Given the description of an element on the screen output the (x, y) to click on. 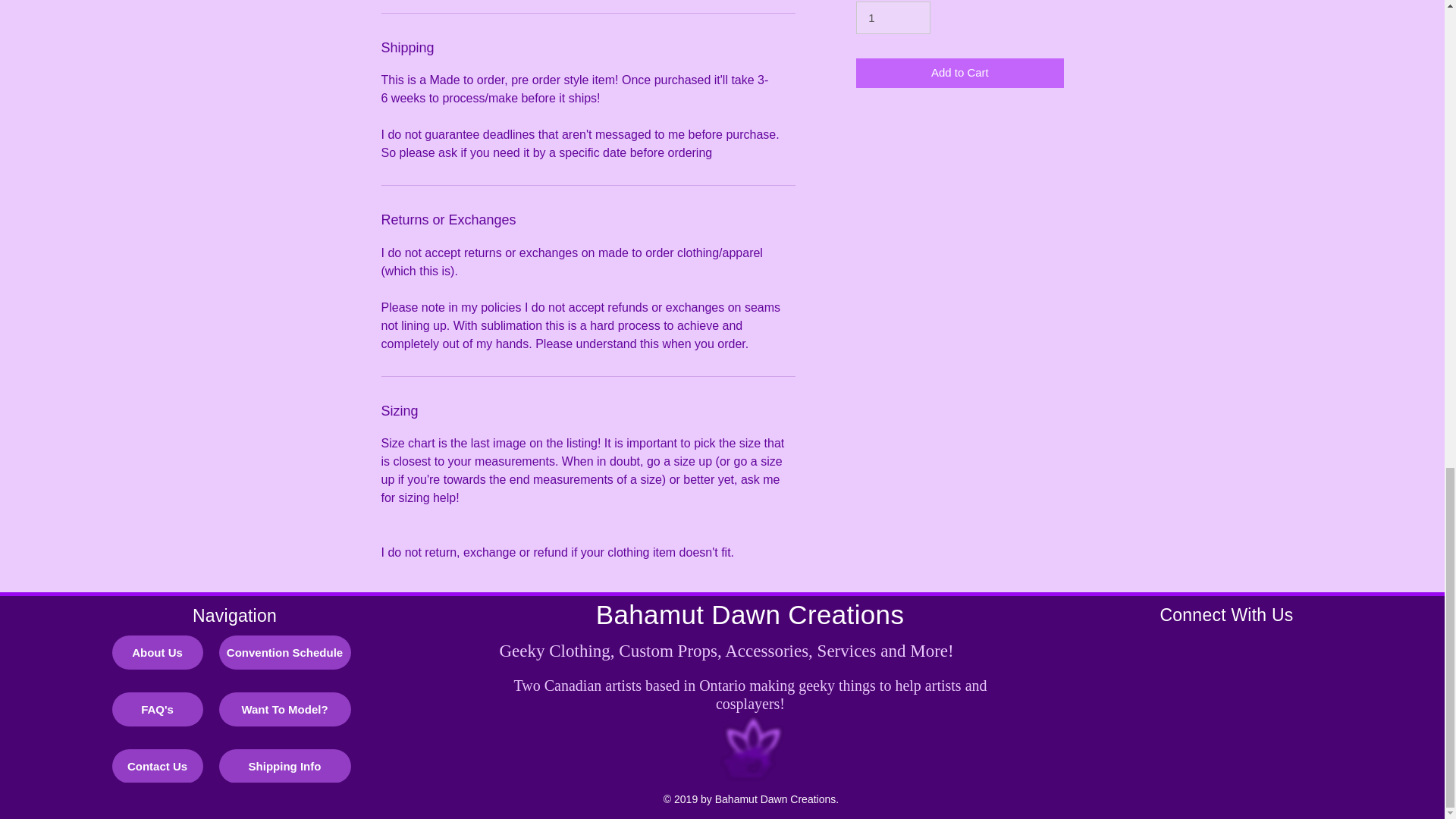
1 (893, 18)
